Given the description of an element on the screen output the (x, y) to click on. 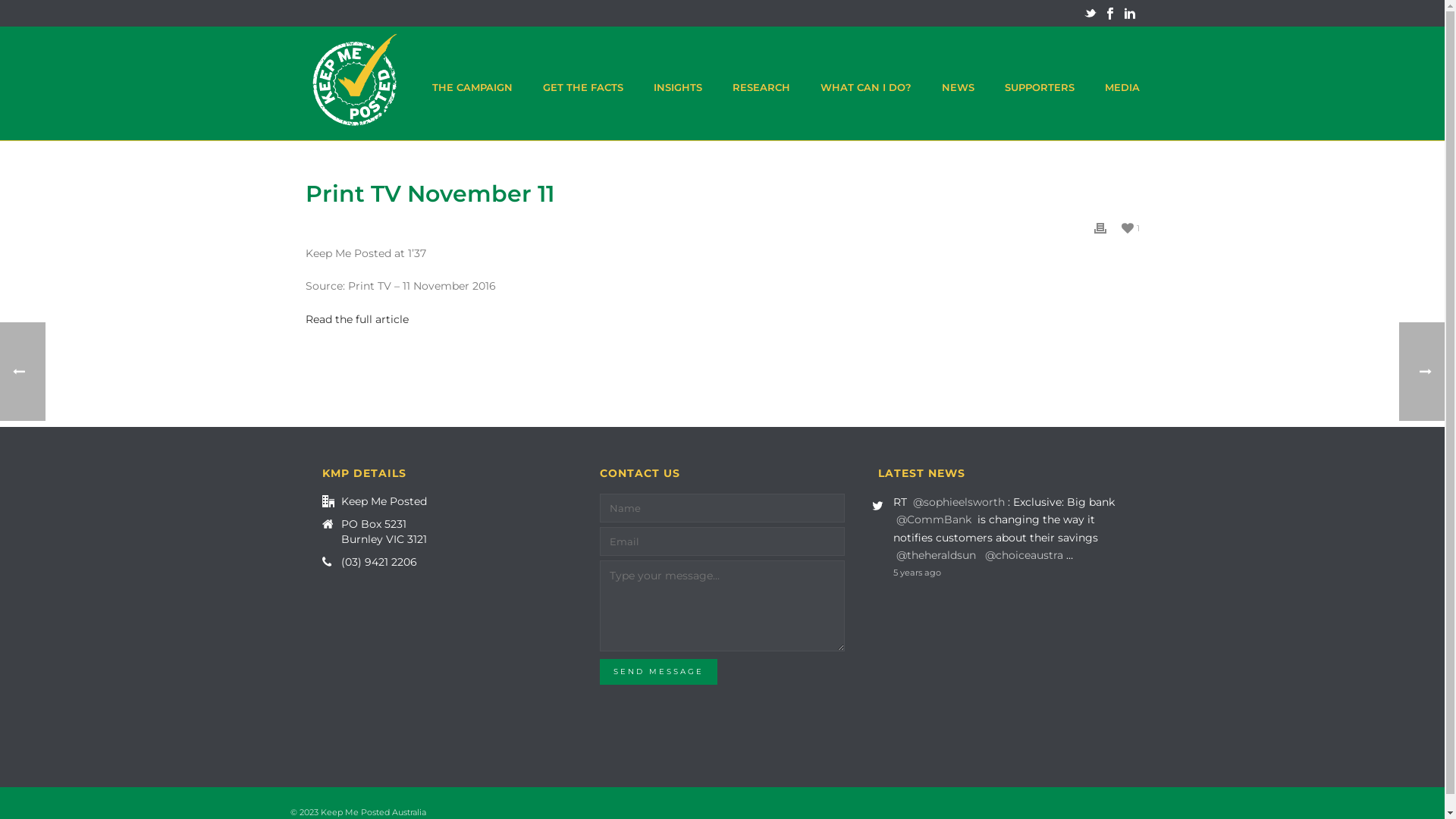
SEND MESSAGE Element type: text (658, 671)
@CommBank Element type: text (933, 519)
@theheraldsun Element type: text (935, 554)
@sophieelsworth Element type: text (958, 501)
MEDIA Element type: text (1121, 83)
Read the full article Element type: text (355, 319)
NEWS Element type: text (957, 83)
THE CAMPAIGN Element type: text (472, 83)
The consumer's right to choose paper bills free of charge Element type: hover (354, 83)
@choiceaustra Element type: text (1024, 554)
GET THE FACTS Element type: text (582, 83)
RESEARCH Element type: text (761, 83)
INSIGHTS Element type: text (677, 83)
Print Element type: hover (1099, 227)
WHAT CAN I DO? Element type: text (865, 83)
5 years ago Element type: text (1008, 572)
SUPPORTERS Element type: text (1038, 83)
1 Element type: text (1129, 227)
